Given the description of an element on the screen output the (x, y) to click on. 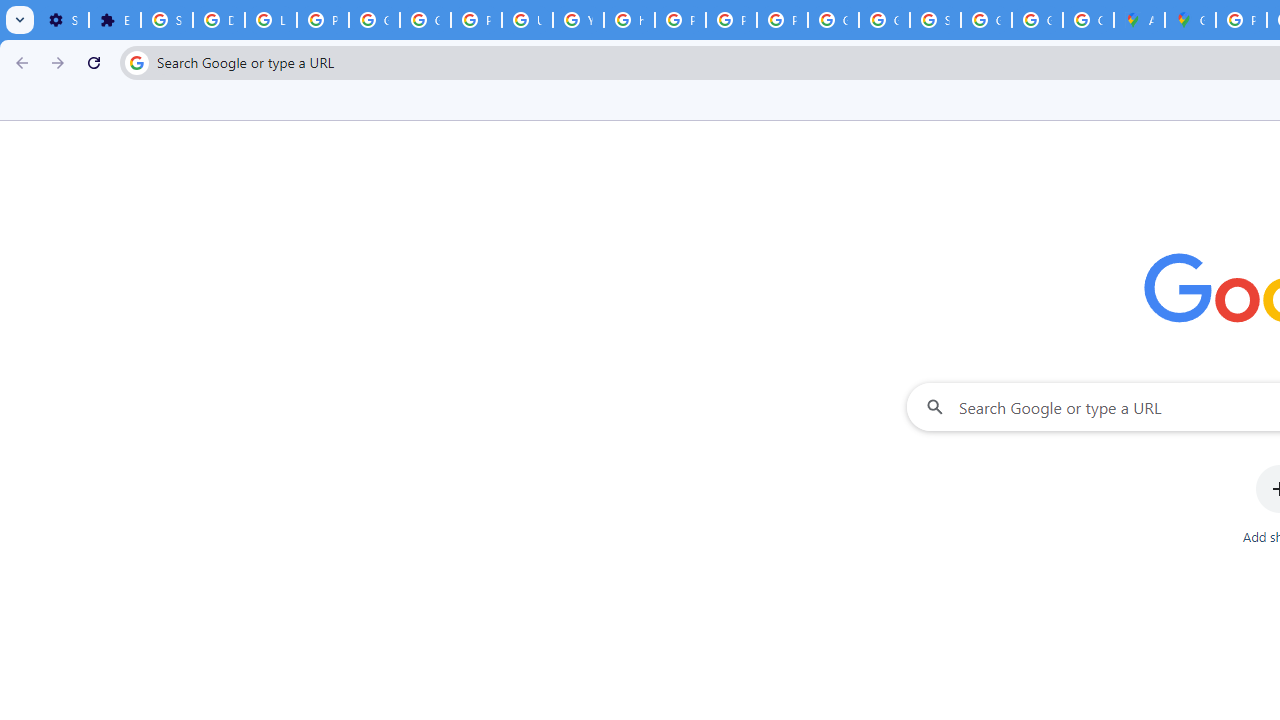
https://scholar.google.com/ (629, 20)
Google Account Help (374, 20)
Policy Accountability and Transparency - Transparency Center (1241, 20)
Create your Google Account (1087, 20)
Delete photos & videos - Computer - Google Photos Help (218, 20)
